Given the description of an element on the screen output the (x, y) to click on. 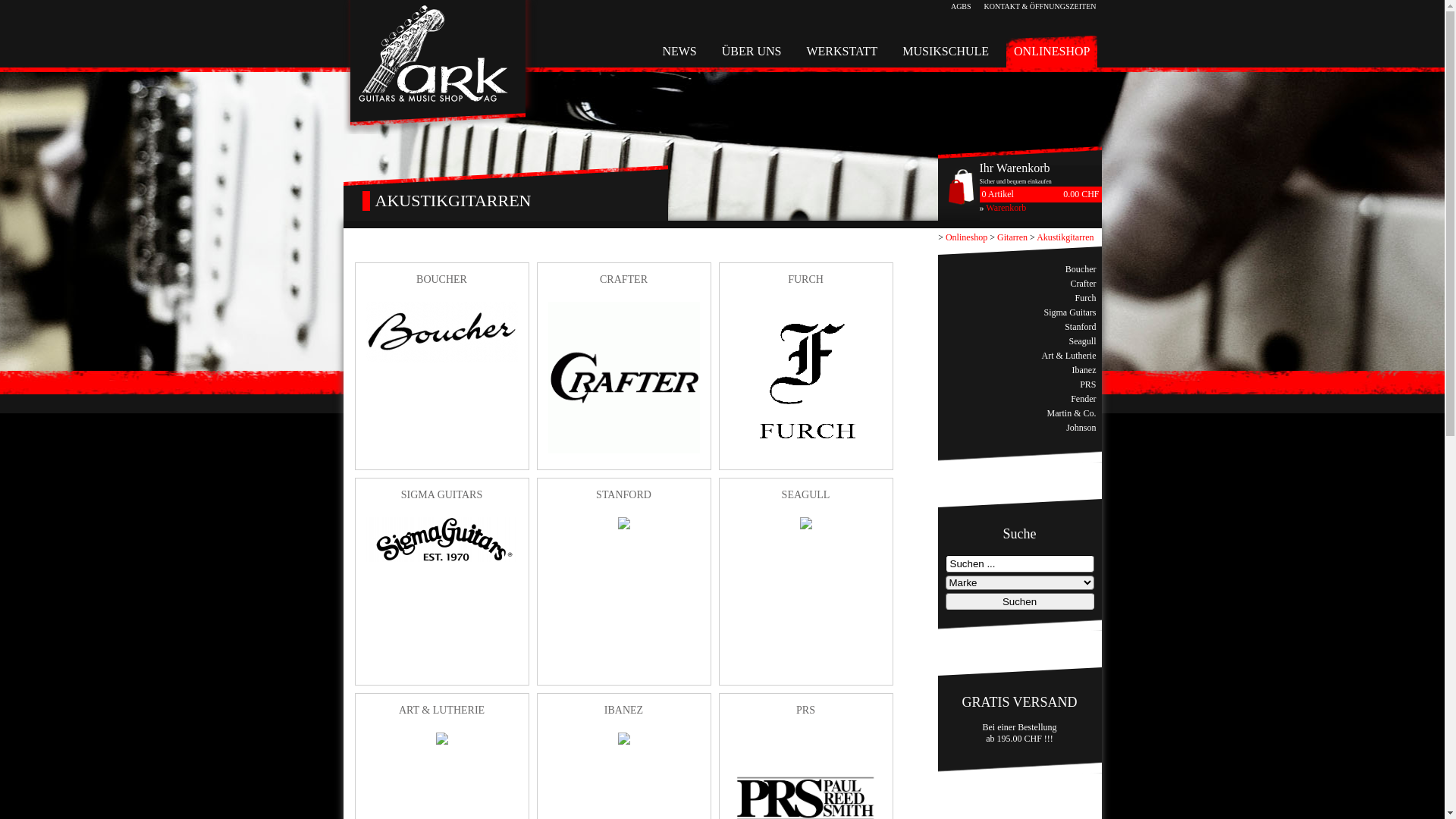
Fender Element type: text (1083, 399)
PRS Element type: text (1087, 384)
SEAGULL Element type: text (805, 500)
STANFORD Element type: text (623, 500)
PRS Element type: text (805, 716)
Seagull Element type: text (1082, 341)
Suchen Element type: text (1018, 601)
AGBS Element type: text (960, 6)
ART & LUTHERIE Element type: text (441, 716)
Furch Element type: text (1085, 298)
IBANEZ Element type: text (623, 716)
Martin & Co. Element type: text (1071, 413)
Stanford Element type: text (1080, 327)
Gitarren Element type: text (1012, 237)
Crafter Element type: text (1083, 283)
NEWS Element type: text (678, 51)
Johnson Element type: text (1080, 427)
FURCH Element type: text (805, 285)
Onlineshop Element type: text (966, 237)
BOUCHER Element type: text (441, 285)
Sigma Guitars Element type: text (1069, 312)
CRAFTER Element type: text (623, 285)
Ibanez Element type: text (1083, 370)
MUSIKSCHULE Element type: text (945, 51)
WERKSTATT Element type: text (841, 51)
Art & Lutherie Element type: text (1068, 355)
Akustikgitarren Element type: text (1064, 237)
Boucher Element type: text (1080, 269)
SIGMA GUITARS Element type: text (441, 500)
ONLINESHOP Element type: text (1051, 51)
